Given the description of an element on the screen output the (x, y) to click on. 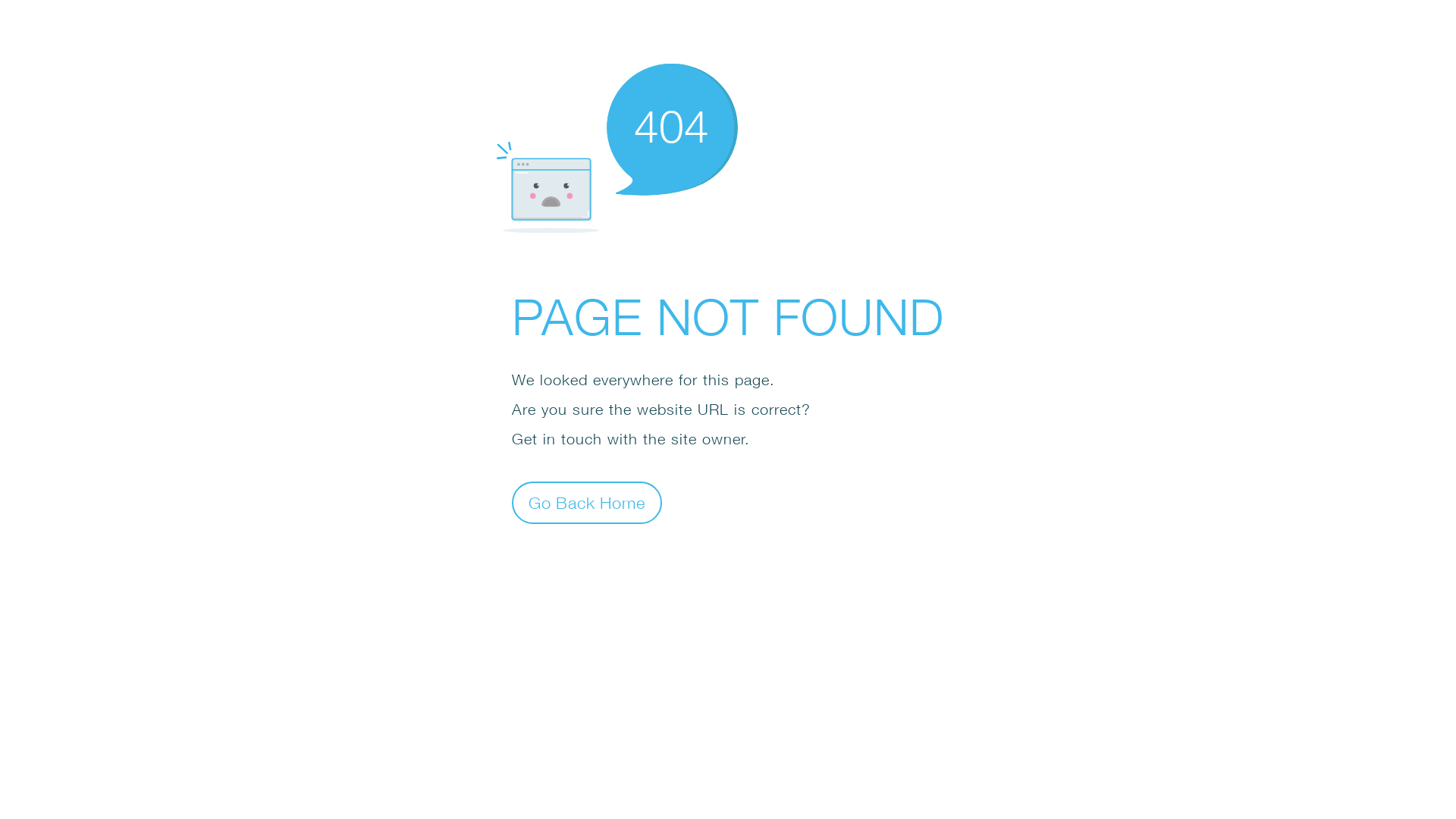
Go Back Home Element type: text (586, 502)
